Given the description of an element on the screen output the (x, y) to click on. 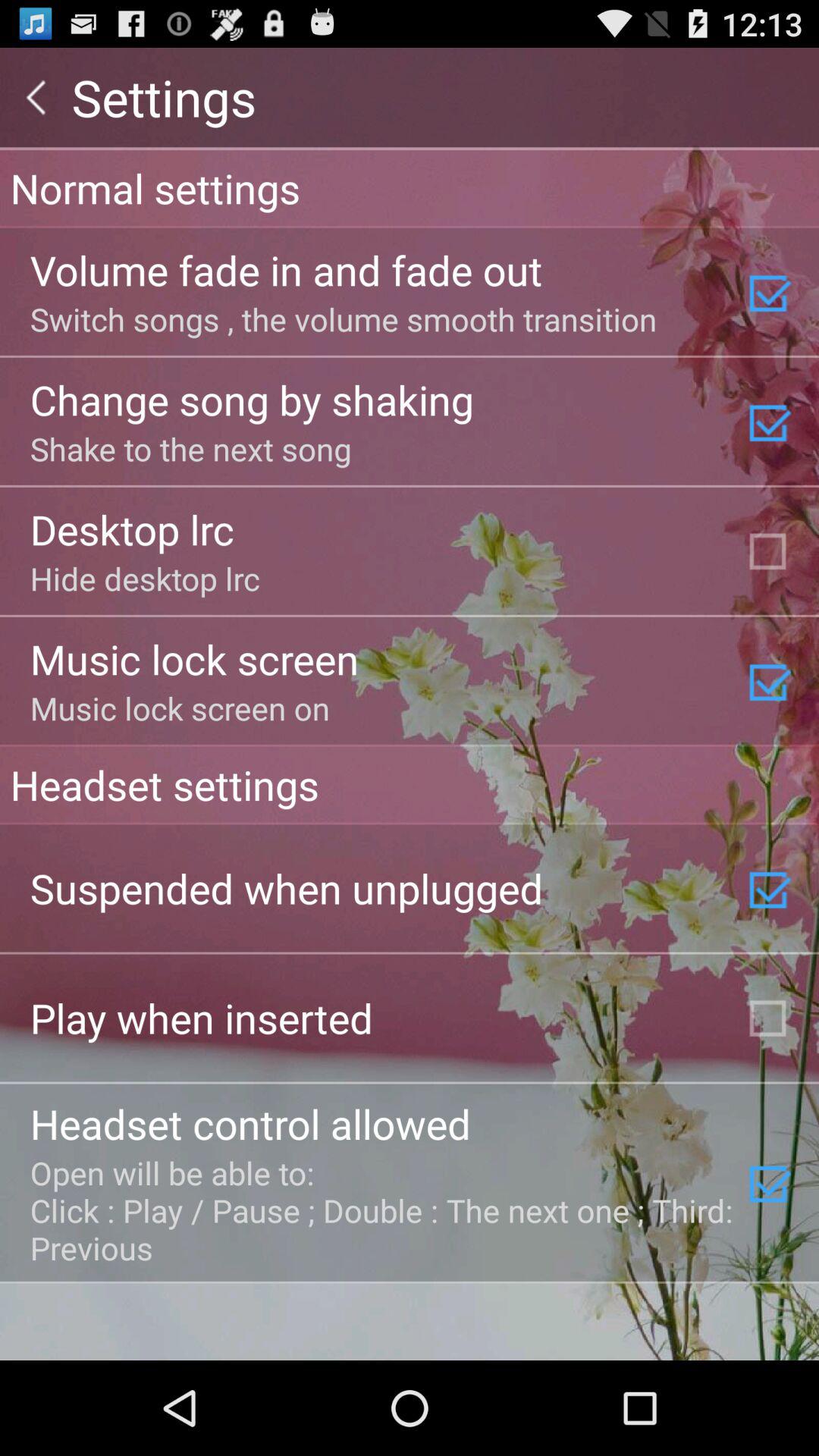
launch headset control allowed (250, 1123)
